Given the description of an element on the screen output the (x, y) to click on. 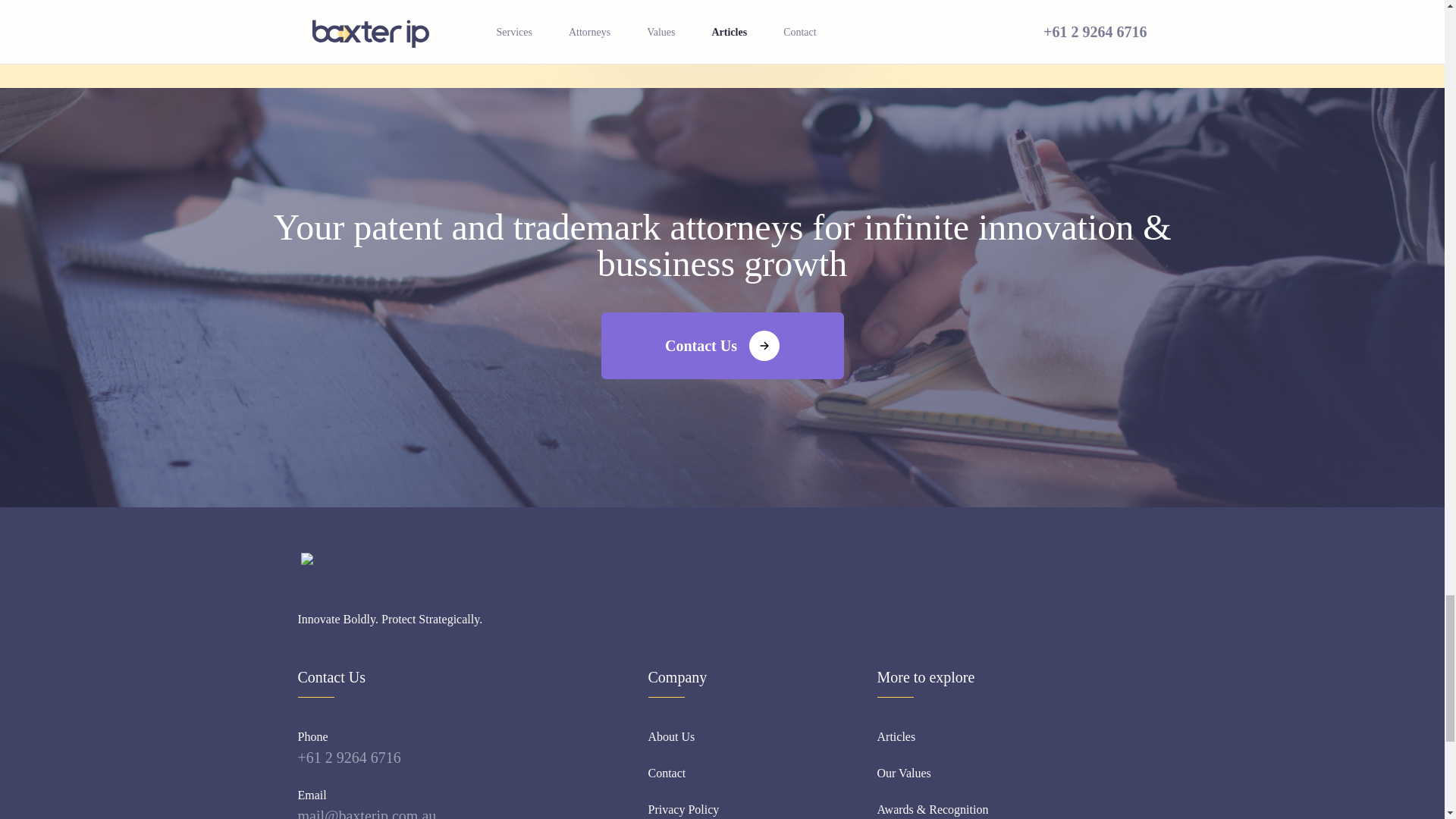
Contact Us (721, 345)
Privacy Policy (683, 809)
Articles (895, 737)
Our Values (903, 773)
Contact (666, 773)
About Us (670, 737)
Read More Articles (721, 13)
